Given the description of an element on the screen output the (x, y) to click on. 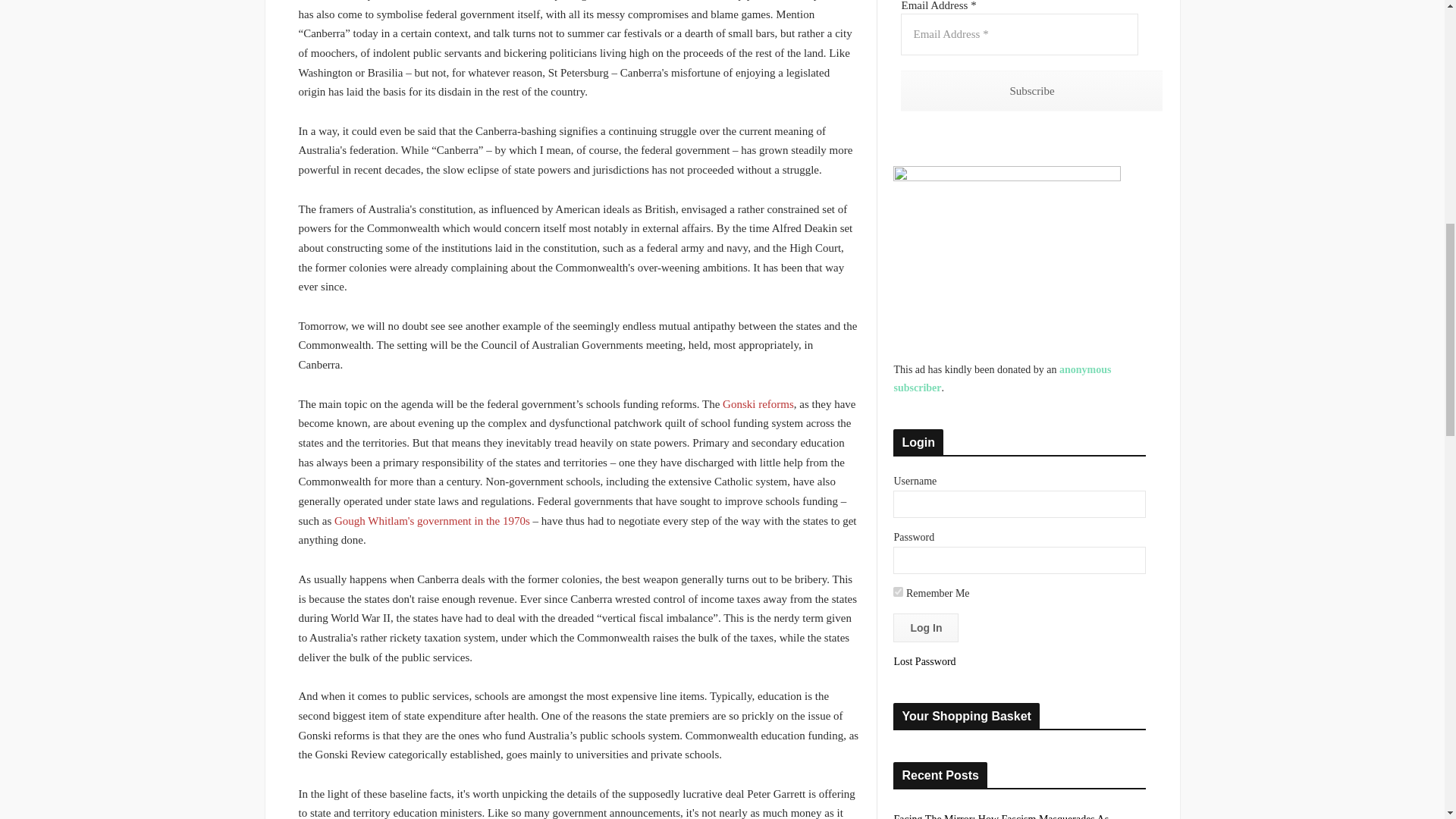
Gough Whitlam's government in the 1970s (431, 521)
Subscribe (1031, 90)
Gonski reforms (757, 404)
forever (897, 592)
Log In (925, 627)
